Given the description of an element on the screen output the (x, y) to click on. 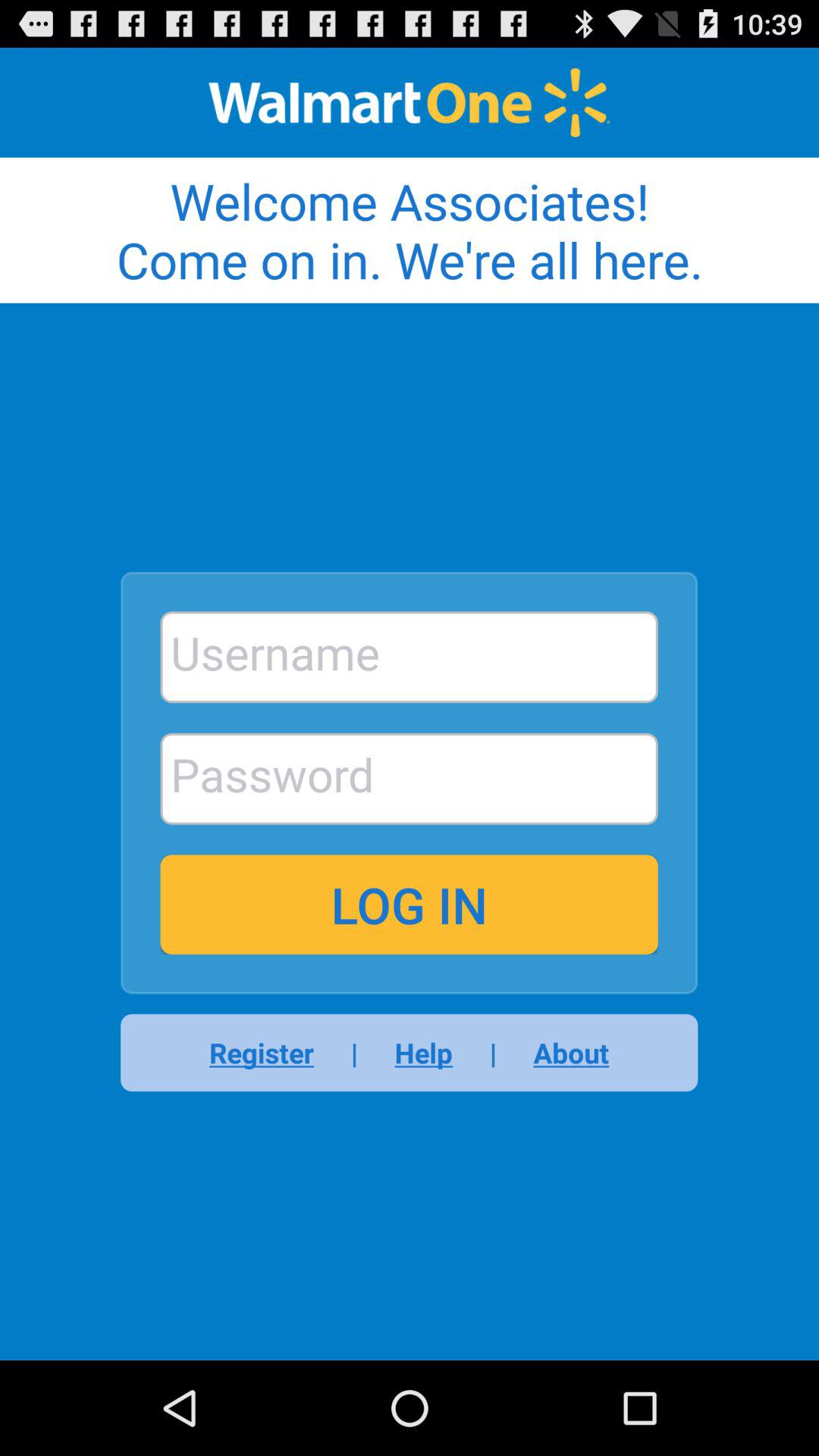
press the app next to | item (423, 1052)
